Given the description of an element on the screen output the (x, y) to click on. 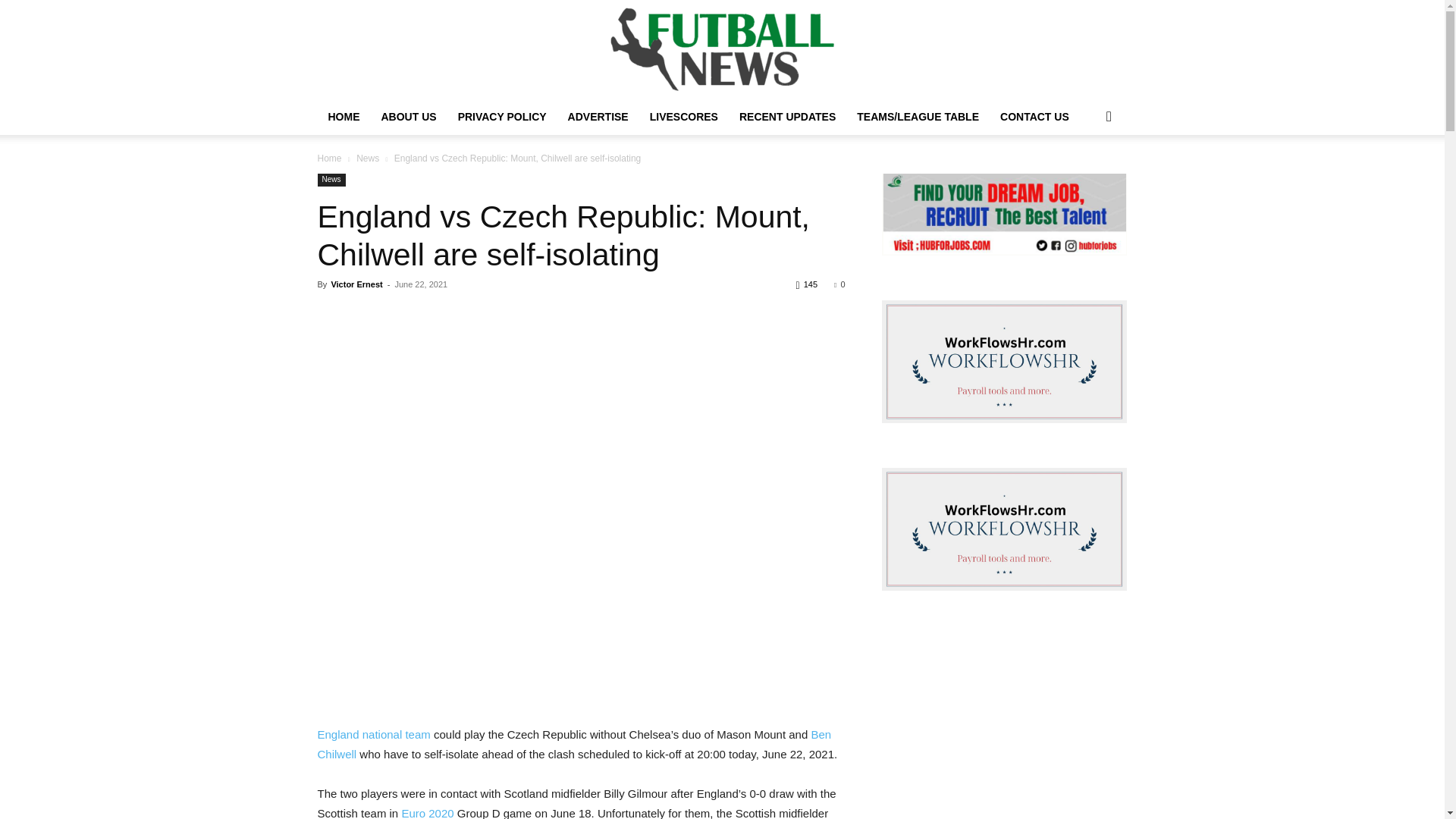
0 (839, 284)
News (367, 158)
Search (1085, 177)
CONTACT US (1035, 116)
LIVESCORES (684, 116)
Victor Ernest (355, 284)
HOME (343, 116)
England national team (373, 734)
News (331, 179)
